Given the description of an element on the screen output the (x, y) to click on. 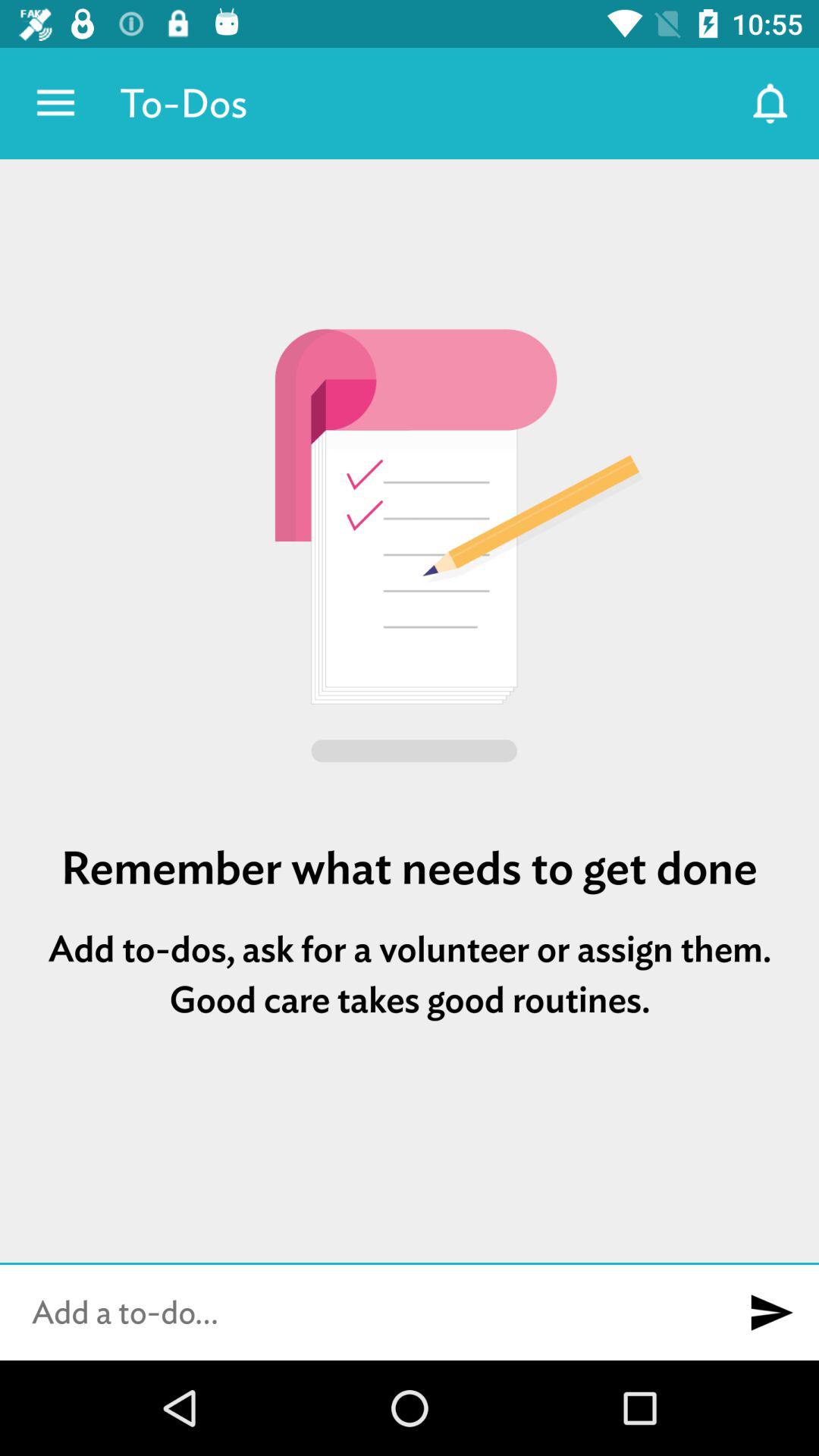
turn off the item to the right of to-dos icon (771, 103)
